Given the description of an element on the screen output the (x, y) to click on. 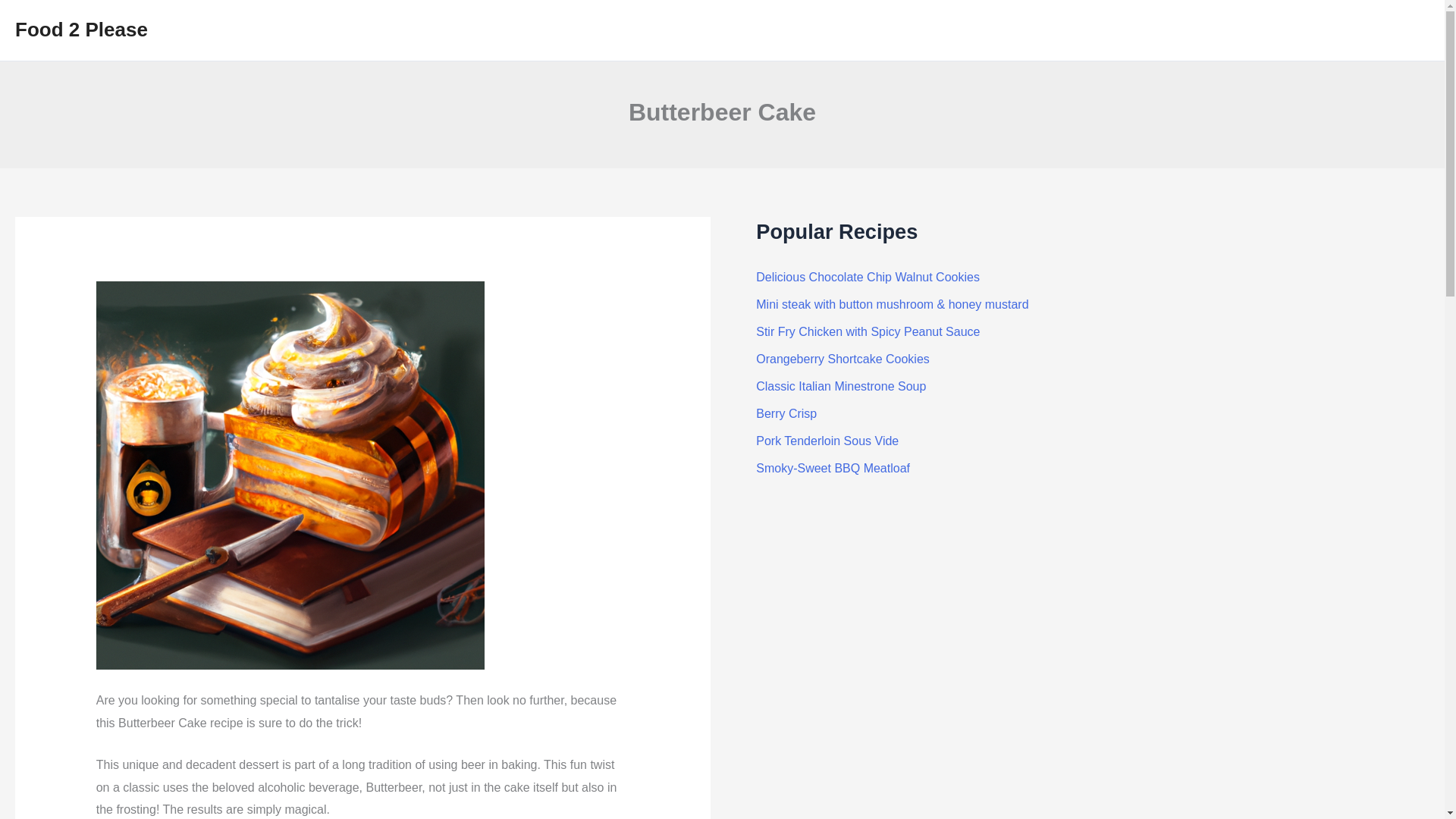
Orangeberry Shortcake Cookies (842, 358)
Berry Crisp (785, 413)
Food 2 Please (81, 29)
Smoky-Sweet BBQ Meatloaf (832, 468)
Pork Tenderloin Sous Vide (826, 440)
Stir Fry Chicken with Spicy Peanut Sauce (867, 331)
Classic Italian Minestrone Soup (840, 386)
Delicious Chocolate Chip Walnut Cookies (867, 277)
